Given the description of an element on the screen output the (x, y) to click on. 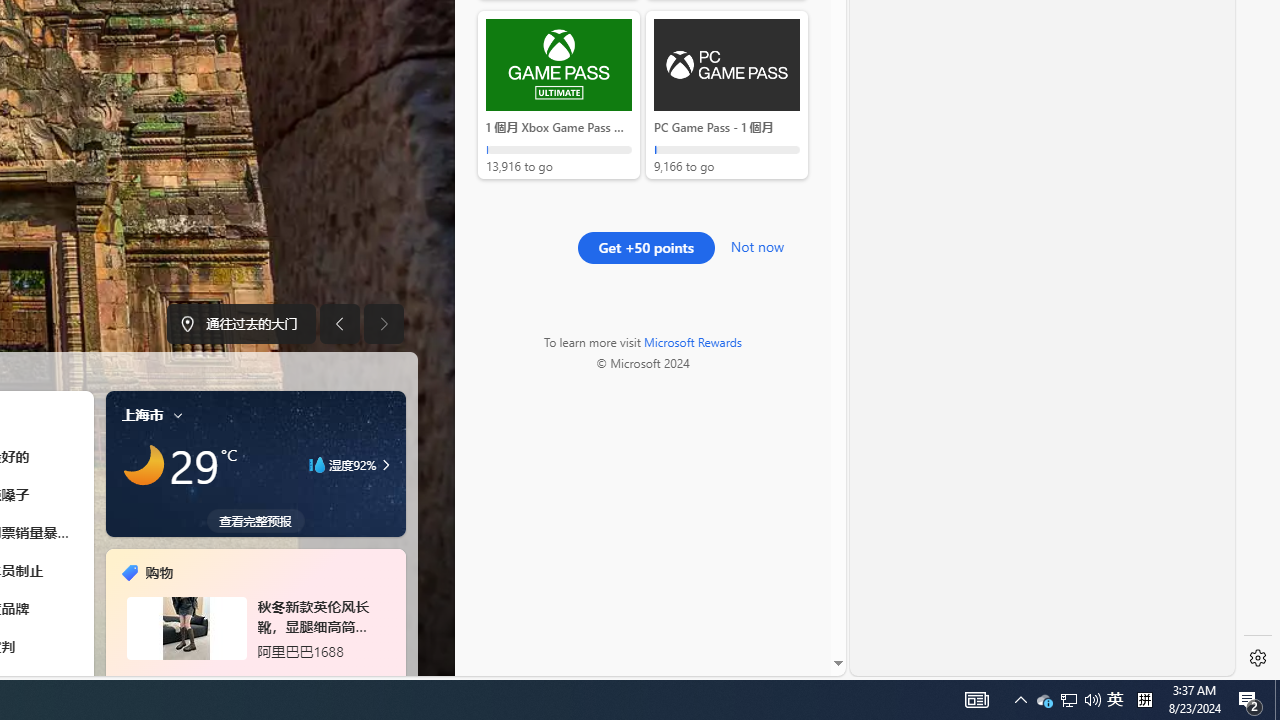
Get +50 points (646, 247)
tab-1 (237, 678)
tab-5 (285, 678)
tab-0 (224, 678)
tab-2 (249, 678)
